Given the description of an element on the screen output the (x, y) to click on. 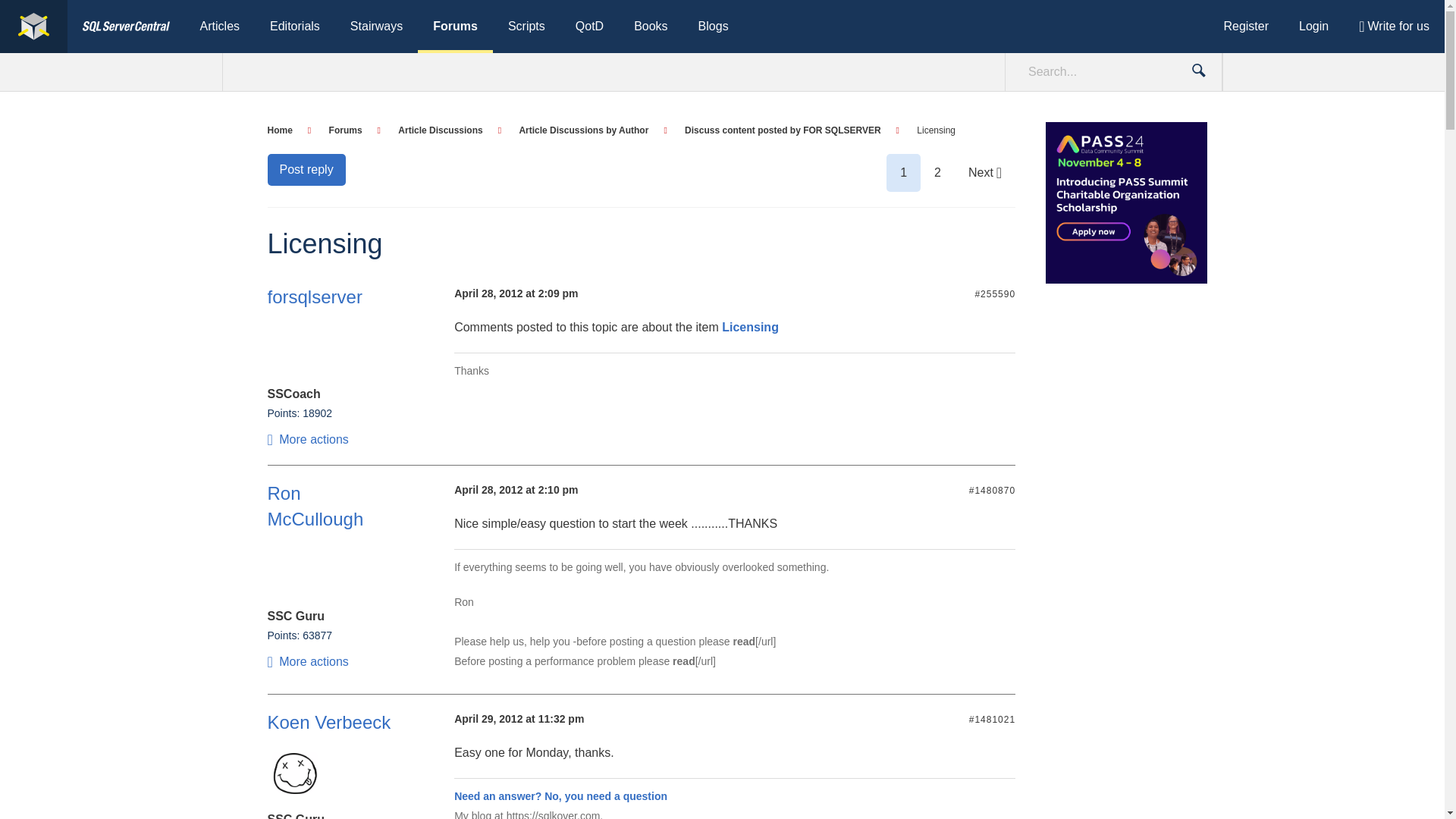
QotD (589, 26)
Books (650, 26)
Login (1313, 26)
Article Discussions by Author (592, 130)
Article Discussions (448, 130)
Scripts (526, 26)
Register (1246, 26)
Articles (219, 26)
Home (288, 130)
Stairways (375, 26)
SQLServerCentral (33, 26)
Blogs (713, 26)
Forums (354, 130)
Editorials (294, 26)
Forums (455, 26)
